Given the description of an element on the screen output the (x, y) to click on. 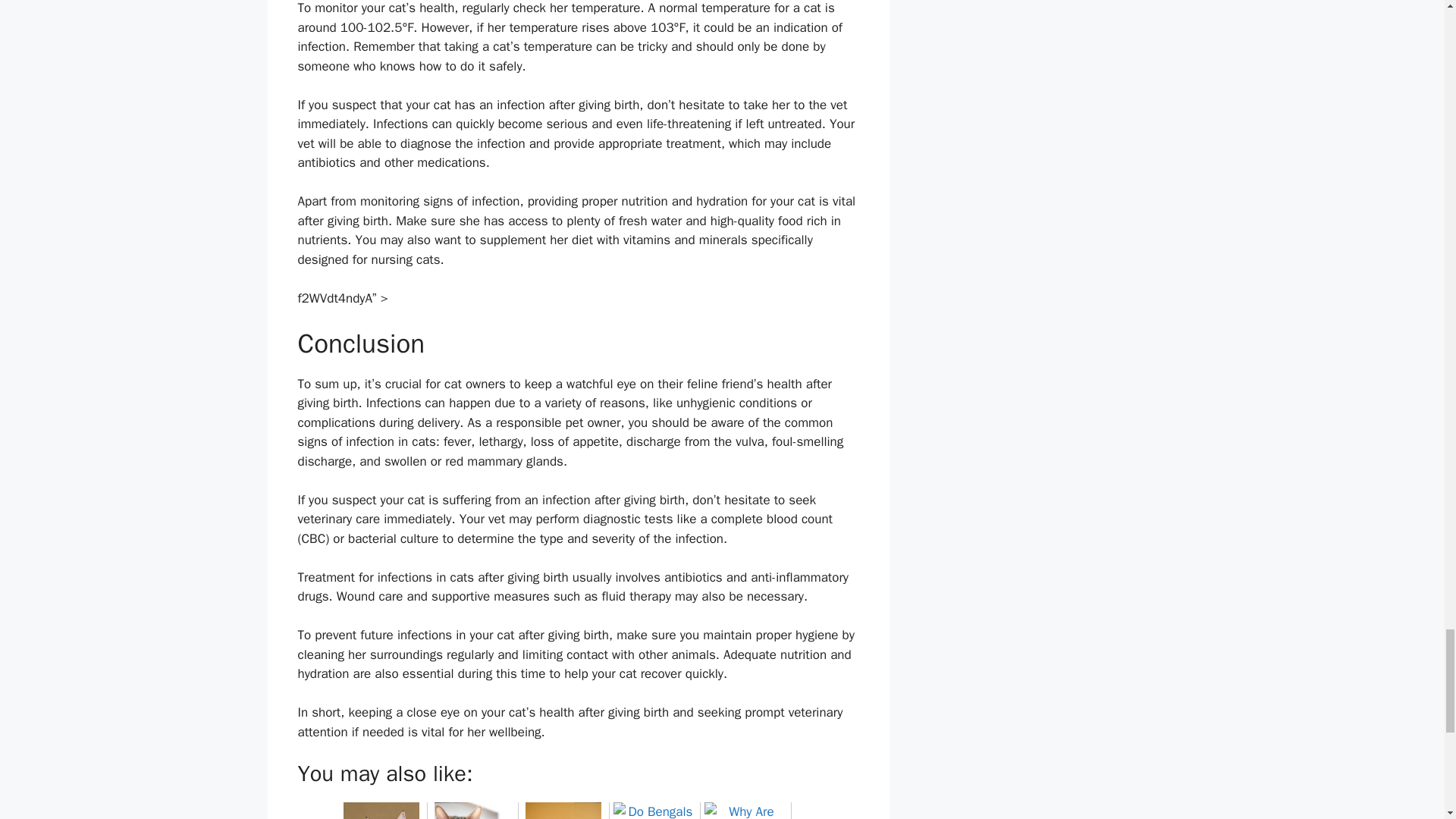
How Do You Hold A Maine Coon Cat? 1 (381, 810)
Which Cat Breed Is Best For First Time Owners? 3 (563, 810)
Do Bengals Not Like To Be Held? 4 (653, 810)
Why Are Bengals High Maintenance? 5 (744, 810)
Can Bengal Cats Be Indoor Outdoor Cats? 2 (472, 810)
